Given the description of an element on the screen output the (x, y) to click on. 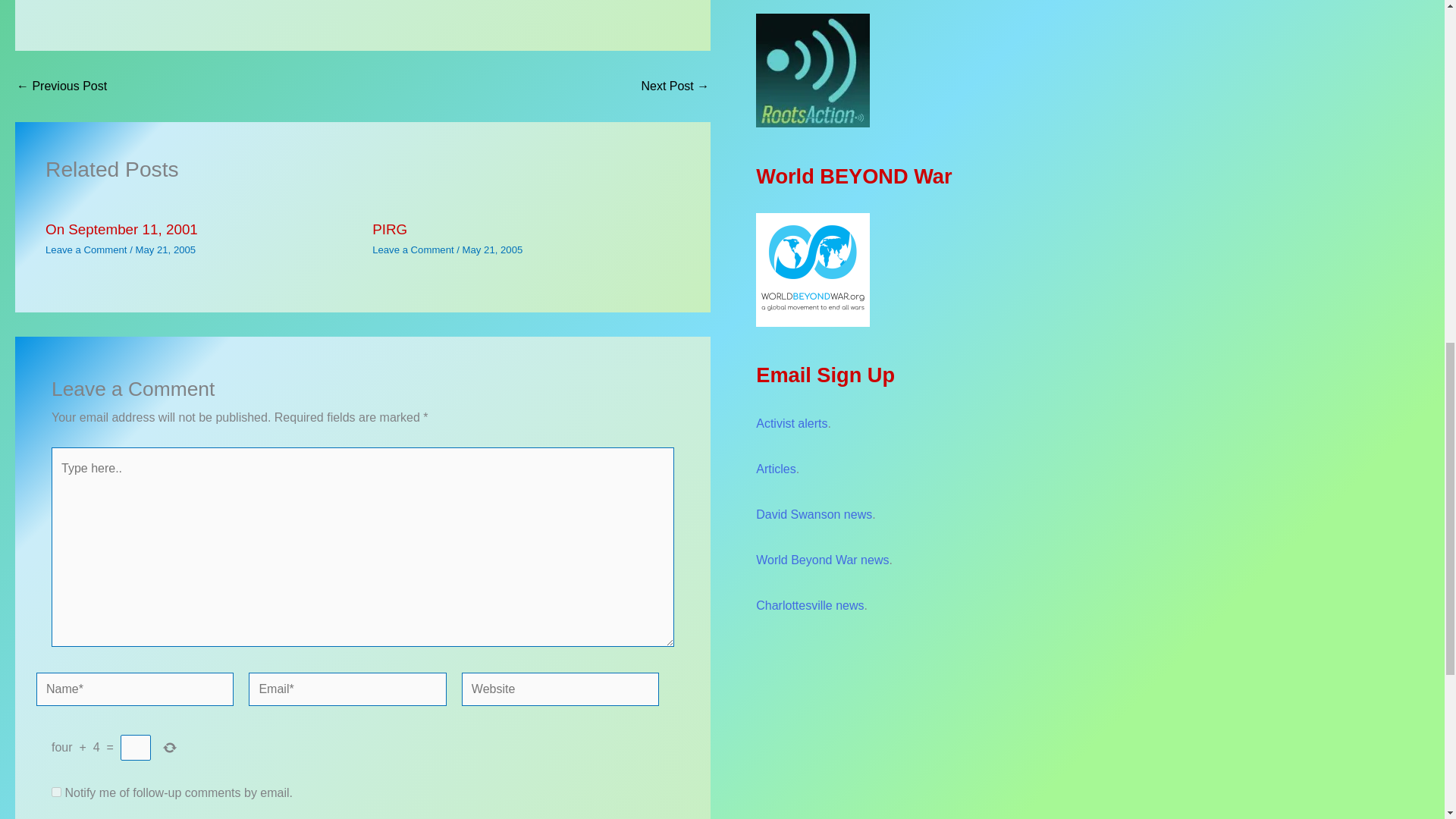
When Would You Say "Enough"? (674, 86)
Impeachment for Christmas, Prosecution for New Year's (61, 86)
subscribe (55, 791)
